Given the description of an element on the screen output the (x, y) to click on. 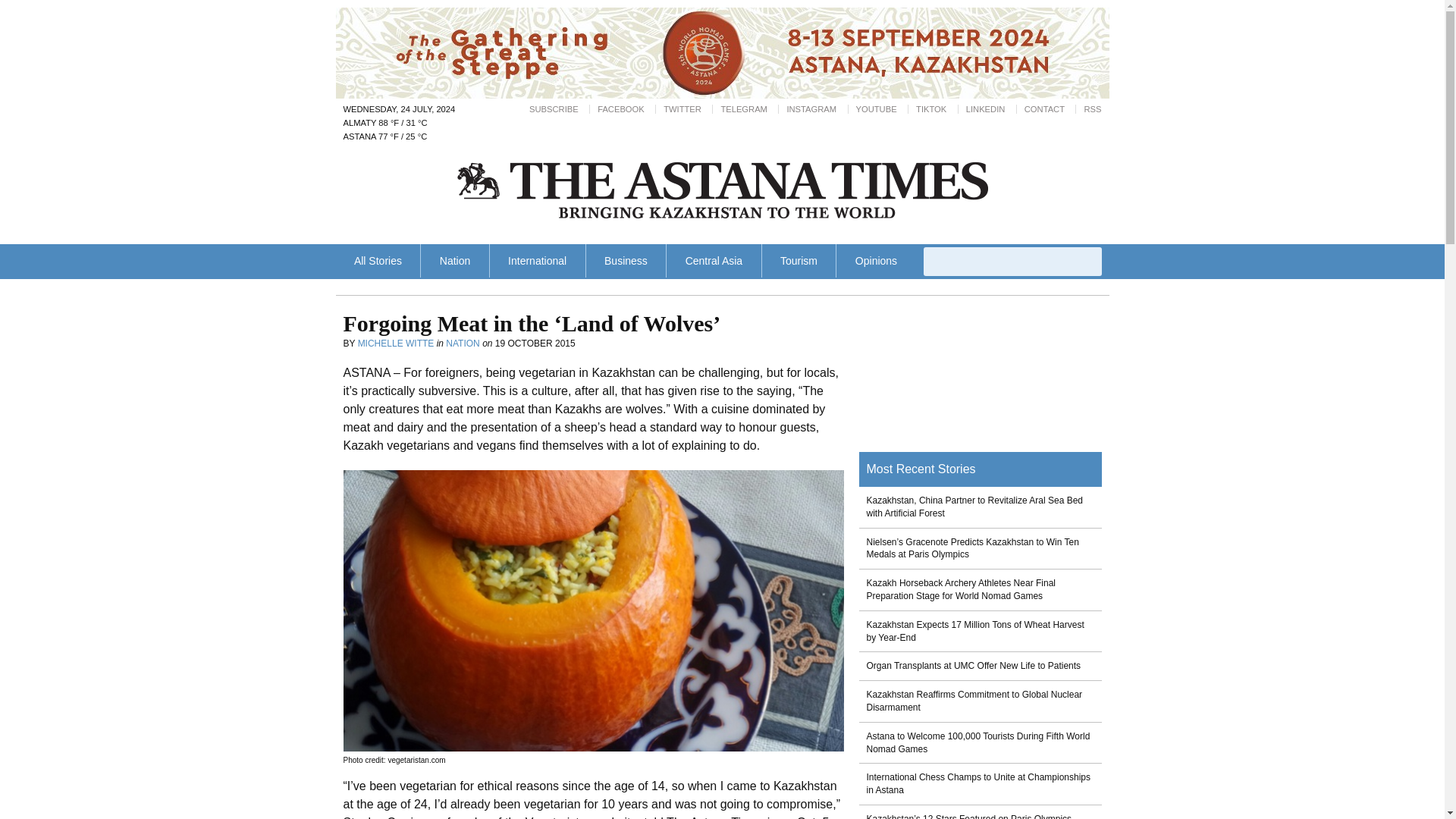
LINKEDIN (986, 108)
CONTACT (1044, 108)
TIKTOK (930, 108)
INSTAGRAM (810, 108)
RSS (1091, 108)
TELEGRAM (743, 108)
YOUTUBE (876, 108)
TWITTER (682, 108)
SUBSCRIBE (553, 108)
FACEBOOK (620, 108)
